Given the description of an element on the screen output the (x, y) to click on. 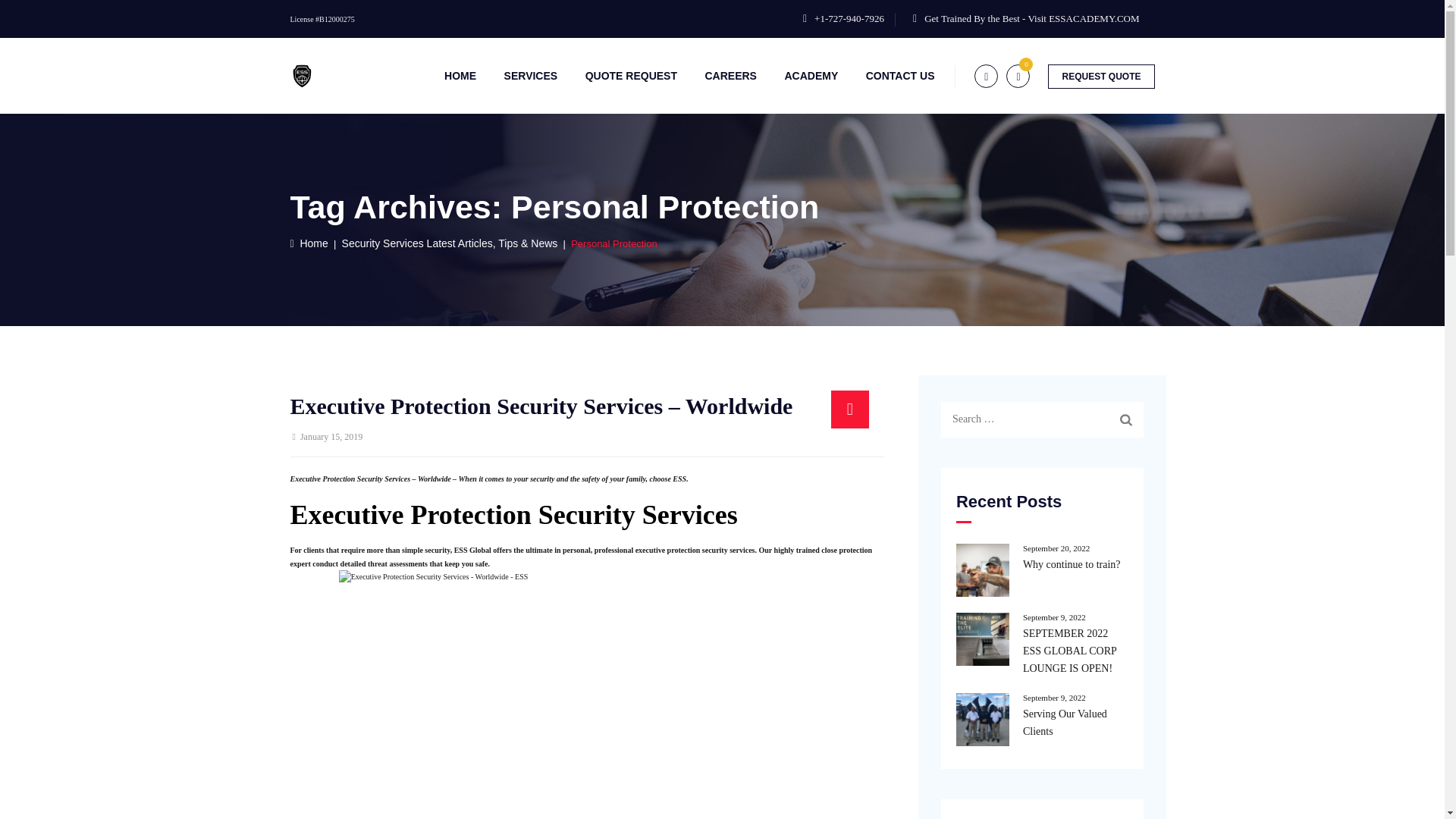
Search (1125, 419)
QUOTE REQUEST (631, 75)
CONTACT US (900, 75)
Get Trained By the Best - Visit ESSACADEMY.COM (1031, 18)
  Home (308, 243)
Search (1125, 419)
0 (1017, 75)
ACADEMY (810, 75)
January 15, 2019 (330, 436)
CAREERS (729, 75)
SERVICES (531, 75)
Search (1125, 419)
Go to Elite Security Specialist. (308, 243)
REQUEST QUOTE (1101, 76)
Why continue to train? (1042, 564)
